Given the description of an element on the screen output the (x, y) to click on. 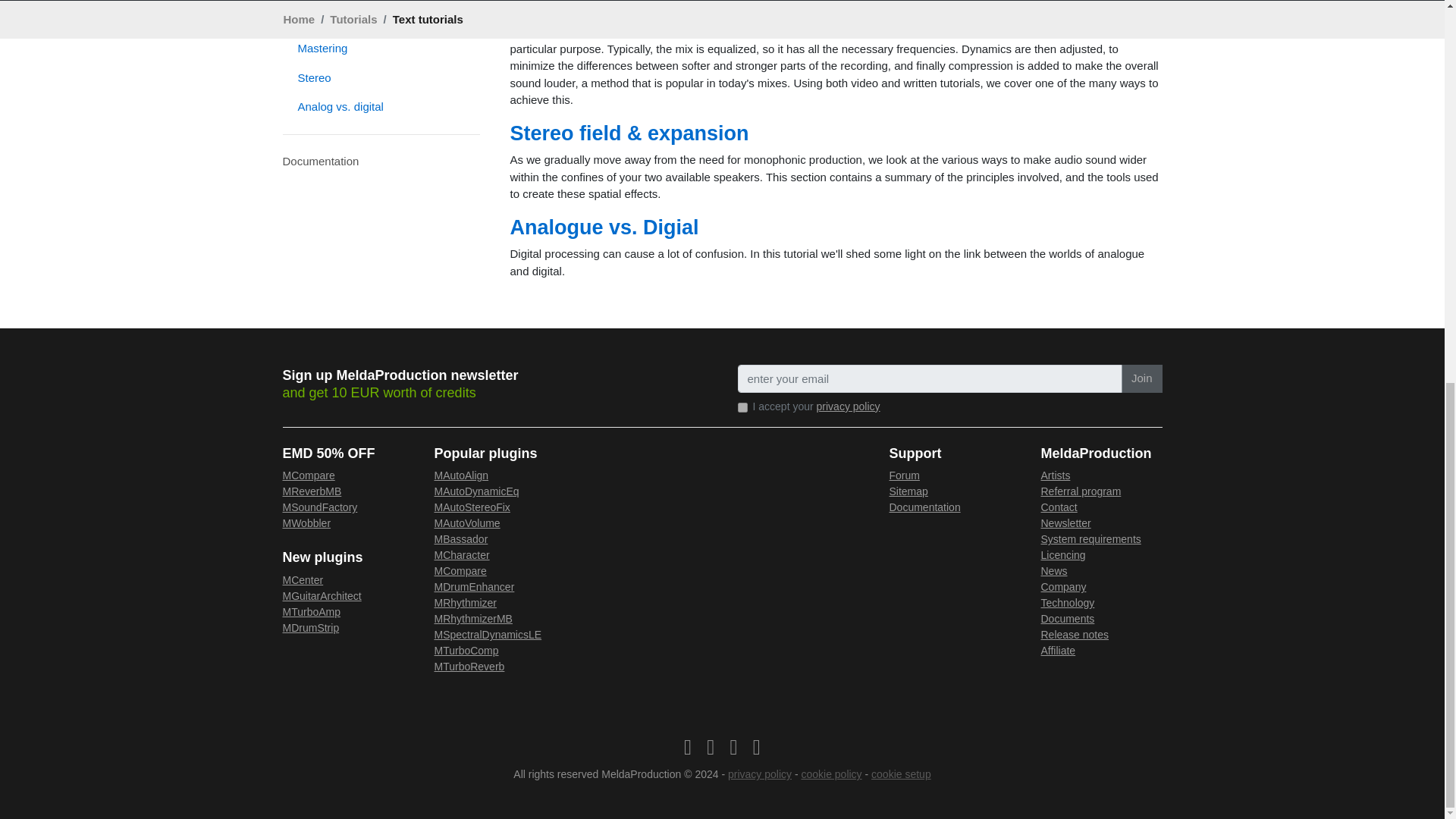
on (741, 406)
